Given the description of an element on the screen output the (x, y) to click on. 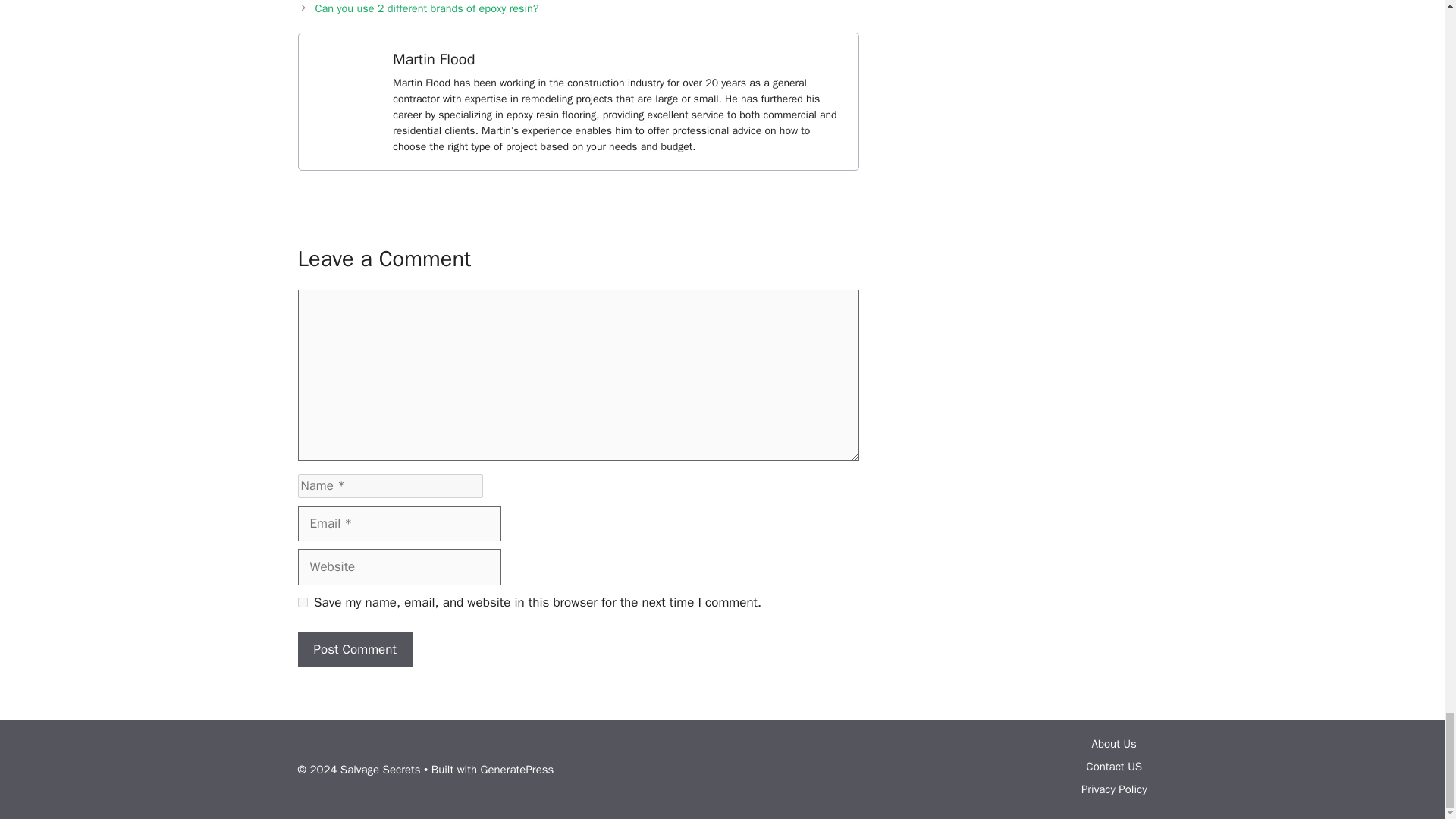
Post Comment (354, 649)
yes (302, 602)
